Given the description of an element on the screen output the (x, y) to click on. 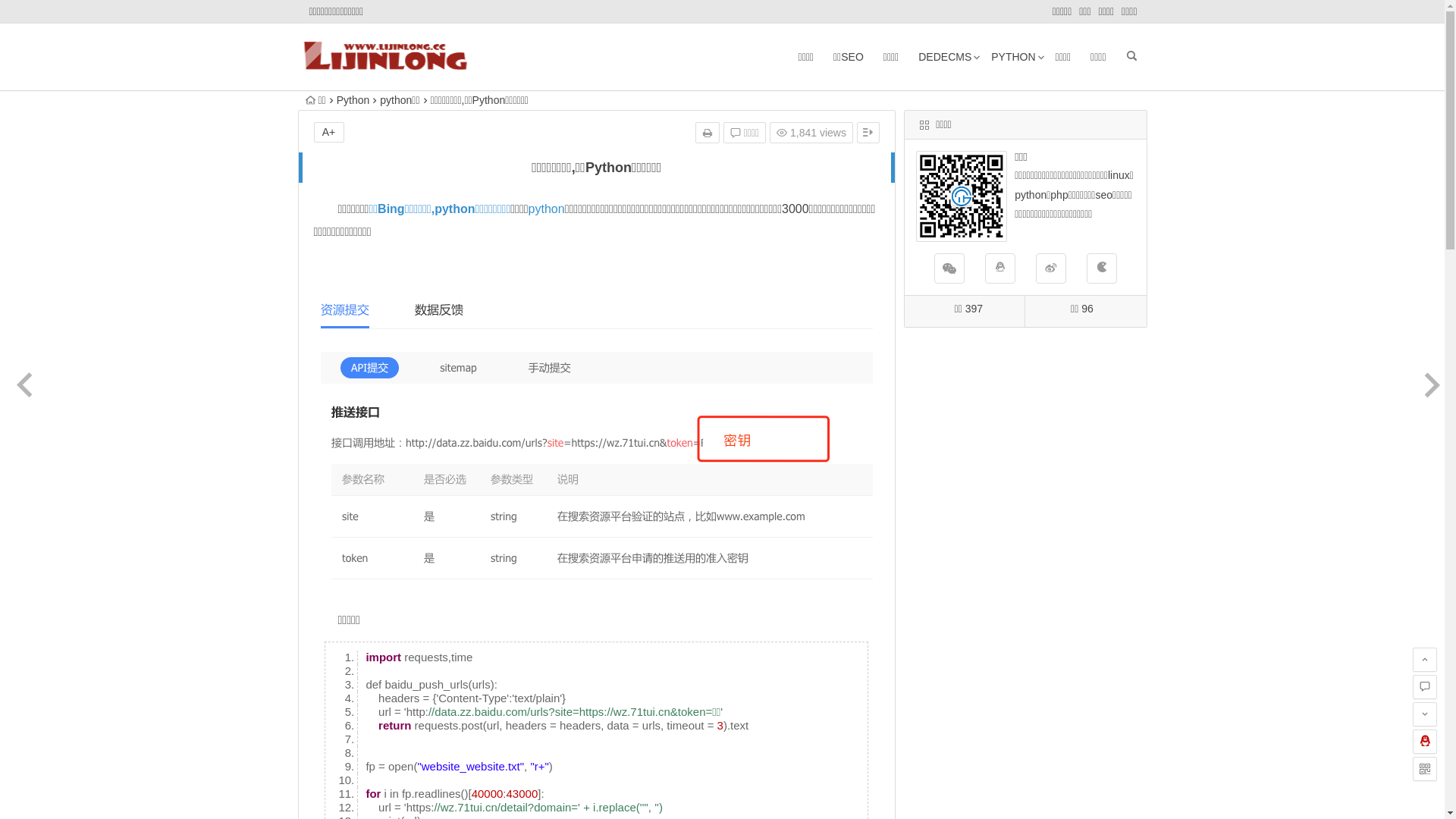
DEDECMS Element type: text (944, 56)
python Element type: text (546, 208)
PYTHON Element type: text (1012, 56)
Python Element type: text (353, 100)
